Given the description of an element on the screen output the (x, y) to click on. 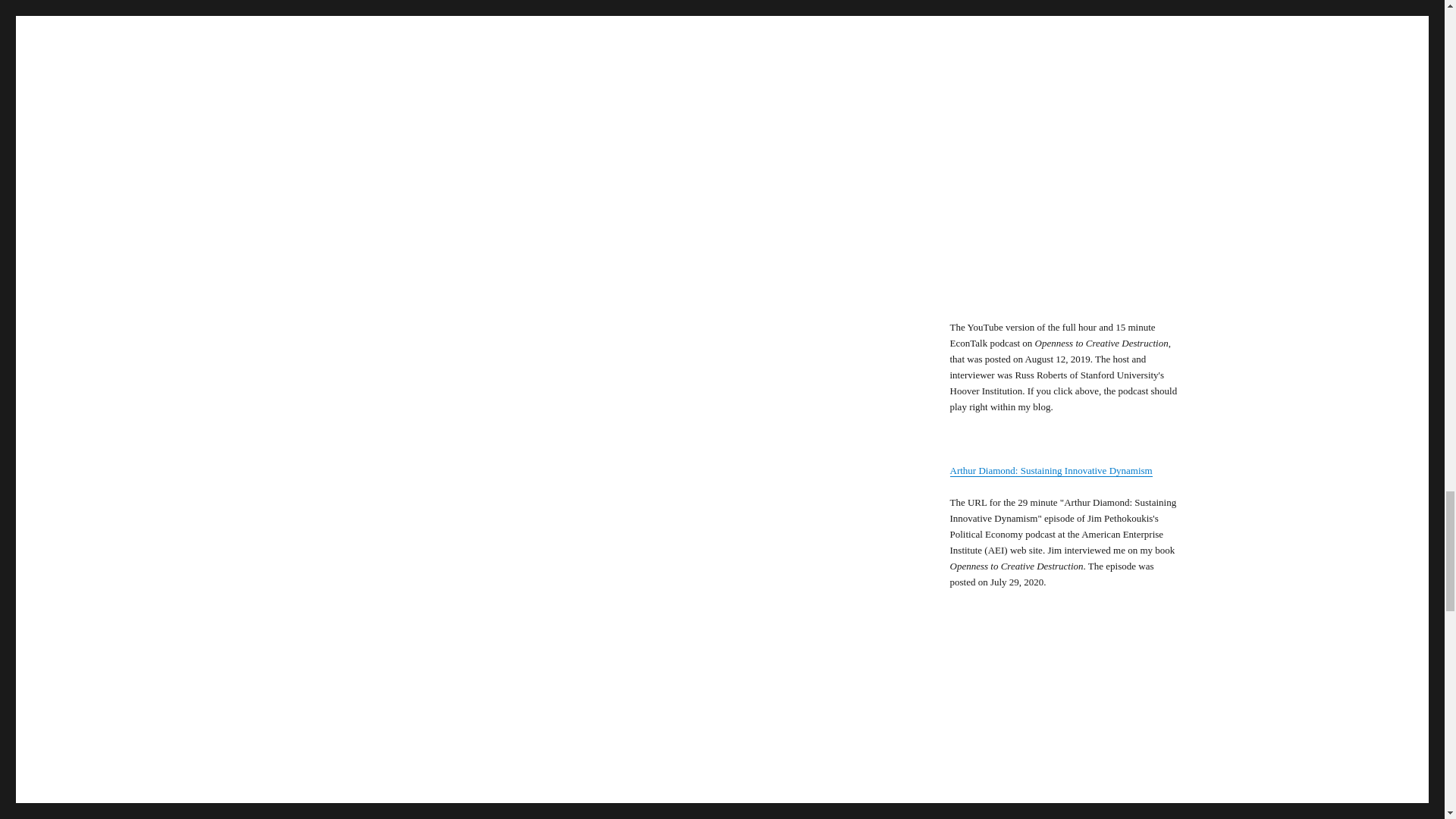
Arthur Diamond: Sustaining Innovative Dynamism (1050, 470)
